Given the description of an element on the screen output the (x, y) to click on. 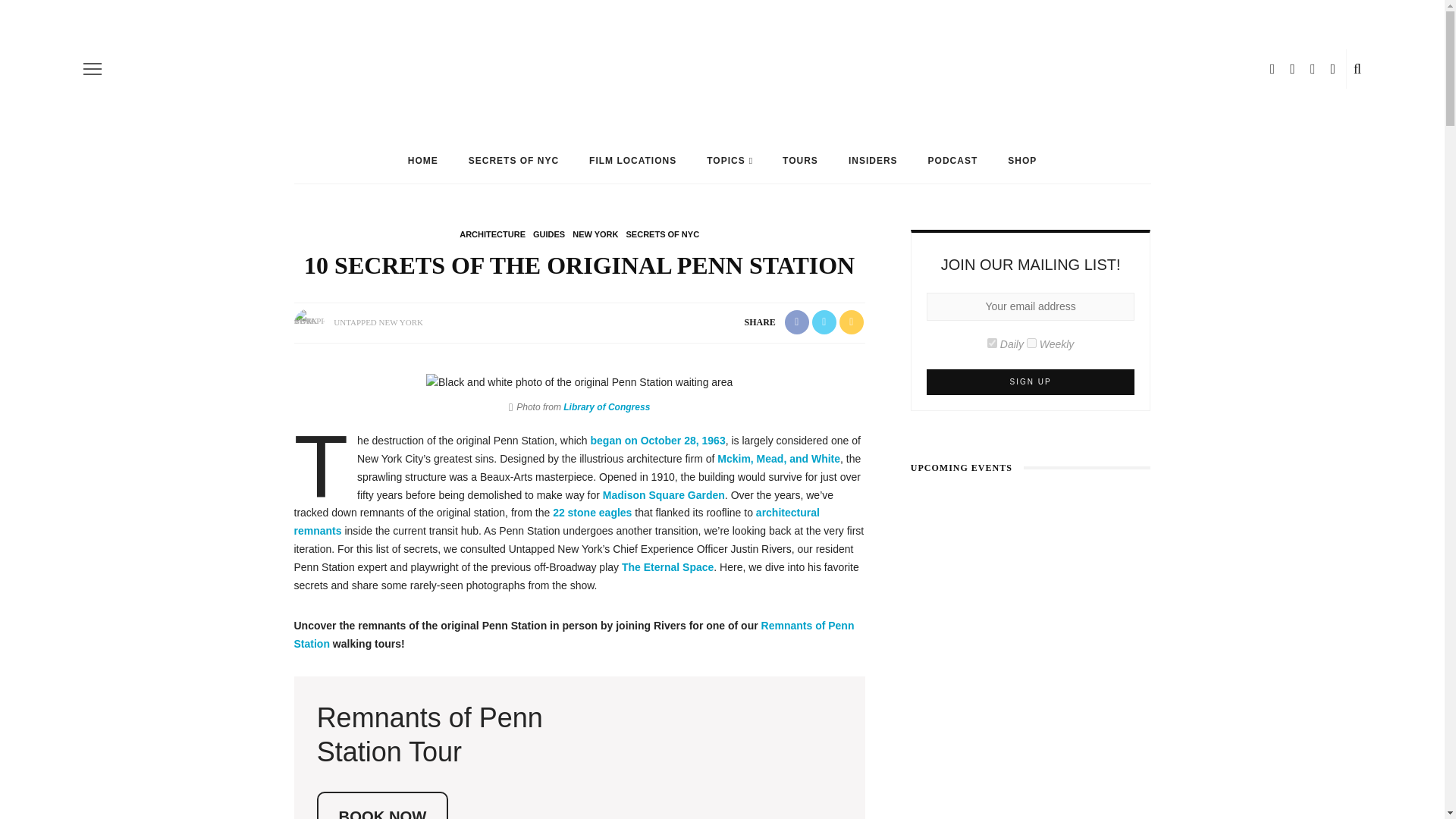
7cff6a70fd (1031, 343)
Sign up (1030, 381)
off canvas button (91, 68)
e99a09560c (992, 343)
